Given the description of an element on the screen output the (x, y) to click on. 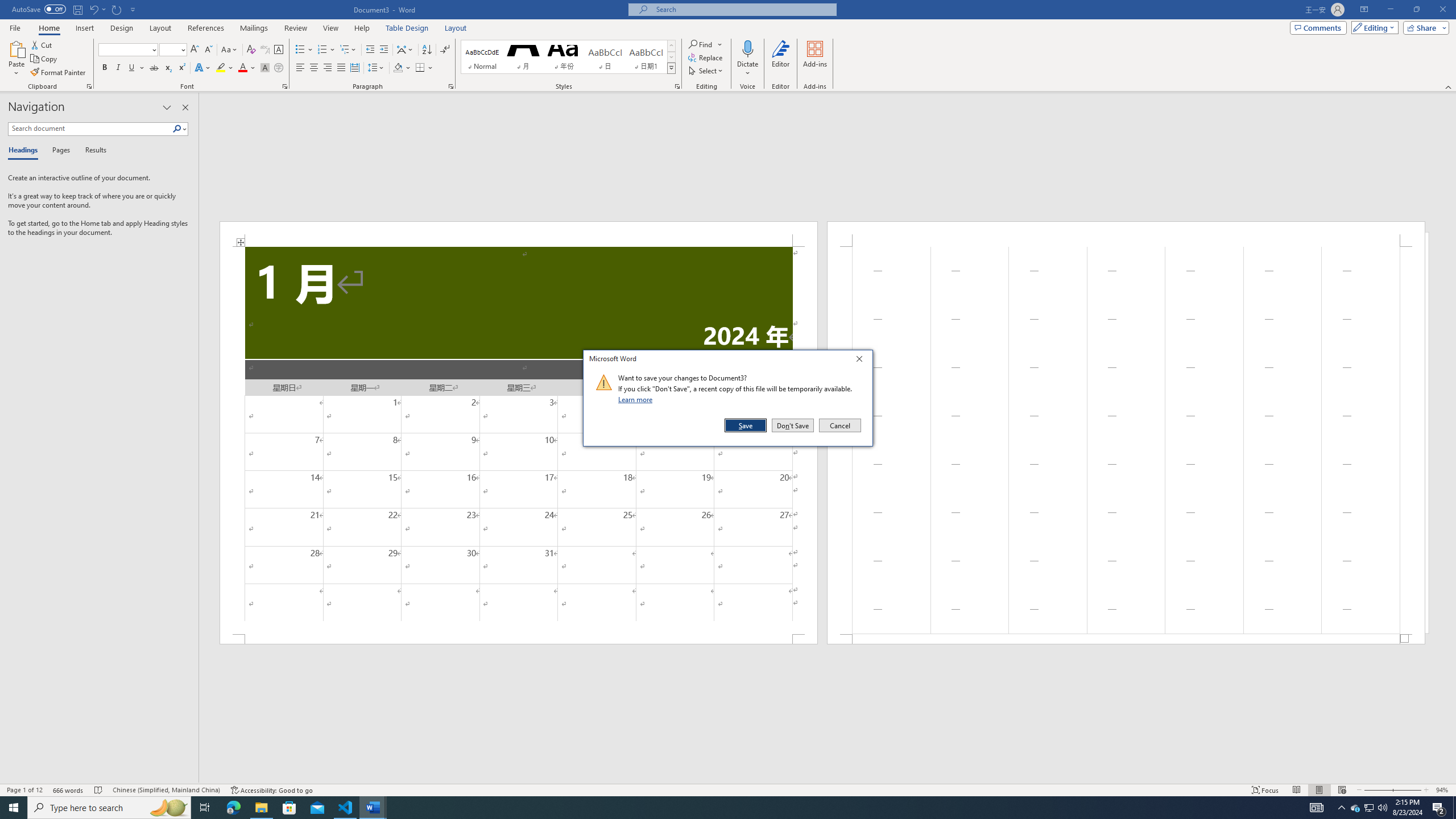
Increase Indent (383, 49)
Format Painter (58, 72)
AutoSave (38, 9)
Headings (25, 150)
Microsoft Store (289, 807)
Undo Apply Quick Style (92, 9)
File Tab (15, 27)
Repeat Style (117, 9)
Grow Font (193, 49)
File Explorer - 1 running window (261, 807)
